Given the description of an element on the screen output the (x, y) to click on. 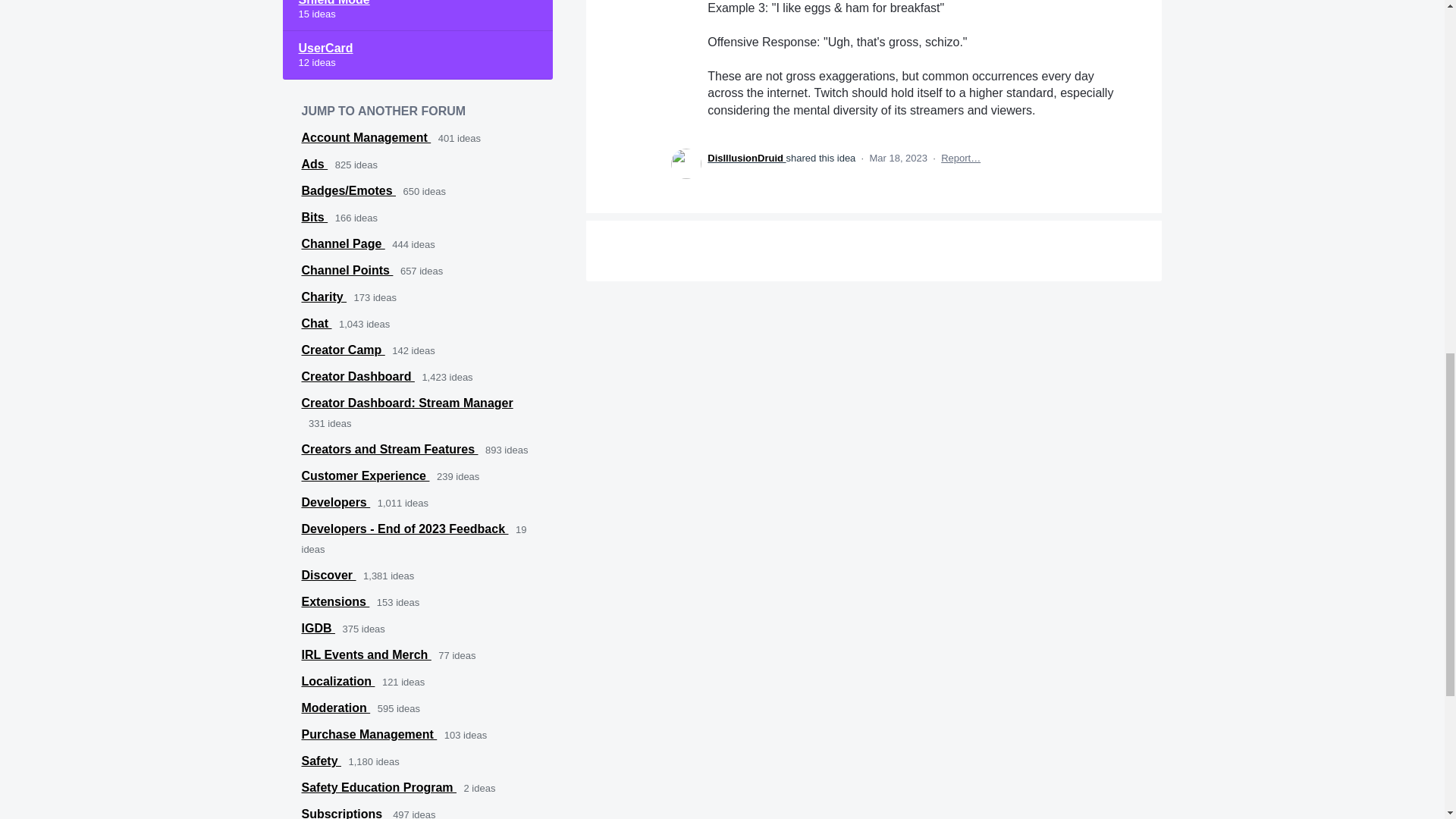
Channel Points (347, 269)
Developers - End of 2023 Feedback (404, 528)
Extensions (335, 601)
Creator Camp (343, 349)
View all ideas in Channel Points (347, 269)
Creator Dashboard: Stream Manager (407, 402)
Account Management (365, 137)
Creator Dashboard (357, 376)
UserCard (417, 55)
Channel Page (343, 243)
